Given the description of an element on the screen output the (x, y) to click on. 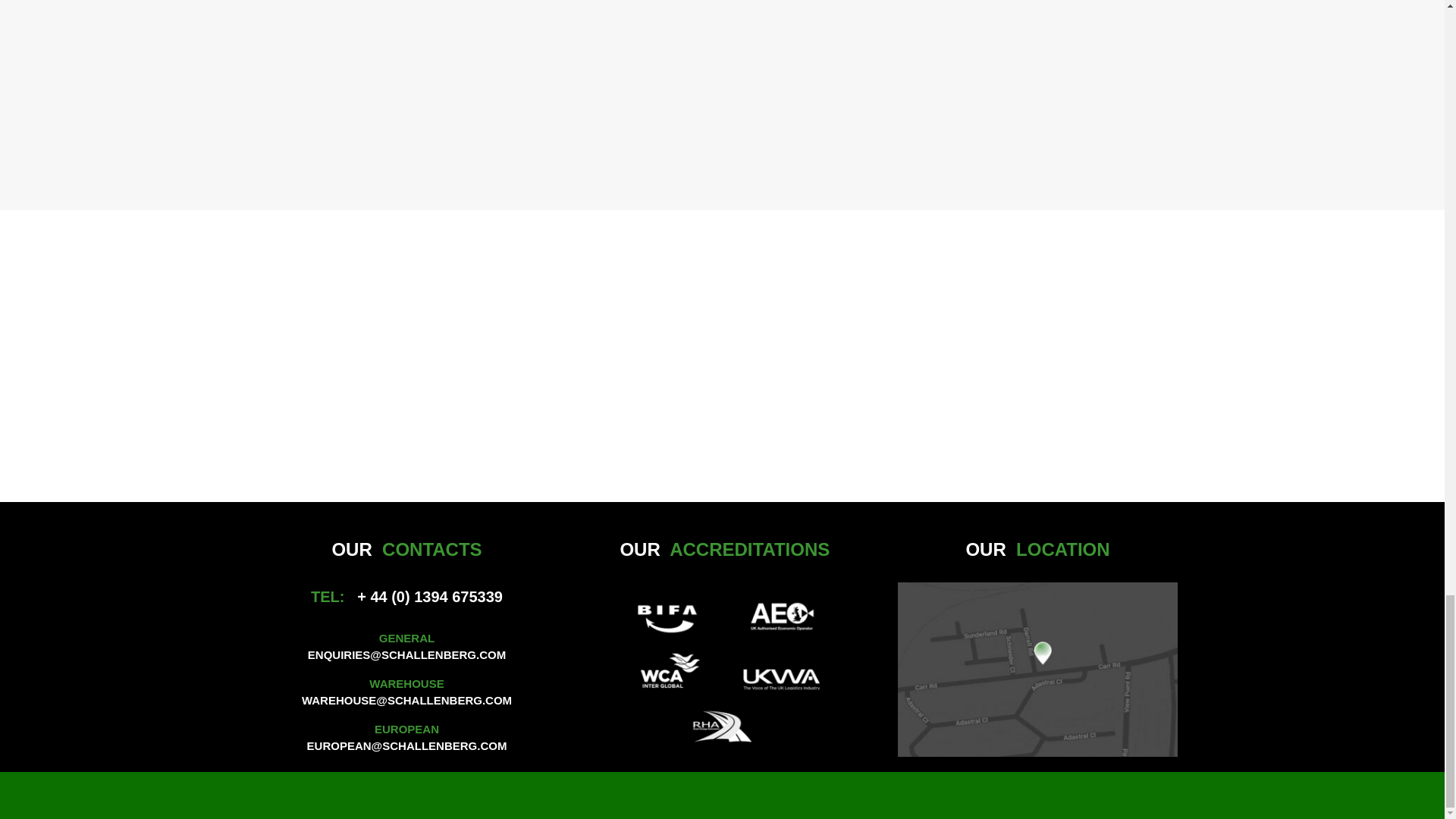
accr (721, 669)
